Given the description of an element on the screen output the (x, y) to click on. 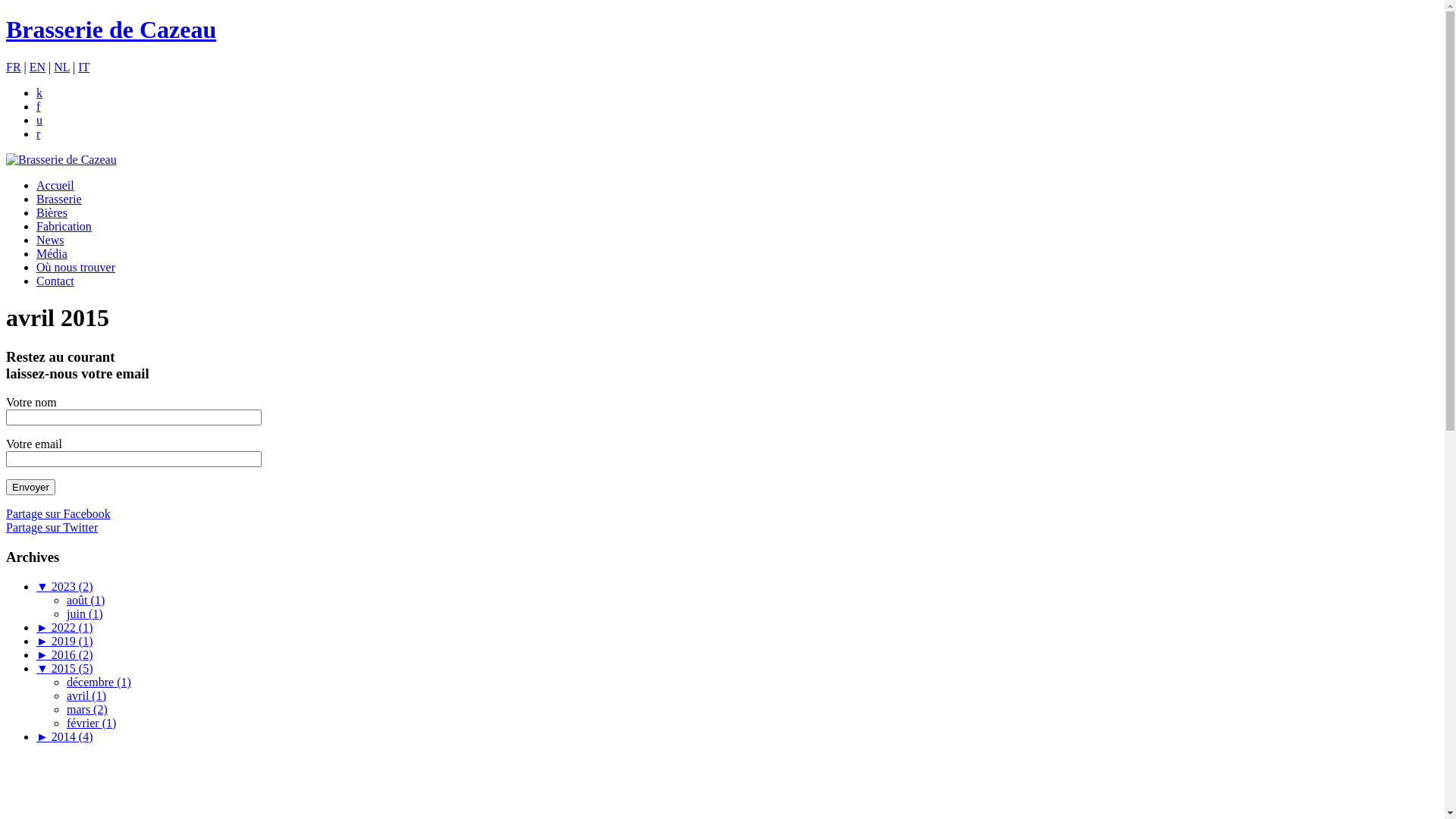
Partage sur Twitter Element type: text (51, 526)
Accueil Element type: text (55, 184)
f Element type: text (38, 106)
k Element type: text (39, 92)
Fabrication Element type: text (63, 225)
FR Element type: text (13, 66)
EN Element type: text (37, 66)
Brasserie de Cazeau Element type: text (722, 29)
avril (1) Element type: text (86, 695)
u Element type: text (39, 119)
NL Element type: text (61, 66)
Brasserie Element type: text (58, 198)
mars (2) Element type: text (86, 708)
Brasserie de Cazeau Element type: hover (61, 159)
Partage sur Facebook Element type: text (58, 513)
juin (1) Element type: text (84, 613)
IT Element type: text (83, 66)
News Element type: text (49, 239)
r Element type: text (38, 133)
Envoyer Element type: text (30, 487)
Contact Element type: text (55, 280)
